Given the description of an element on the screen output the (x, y) to click on. 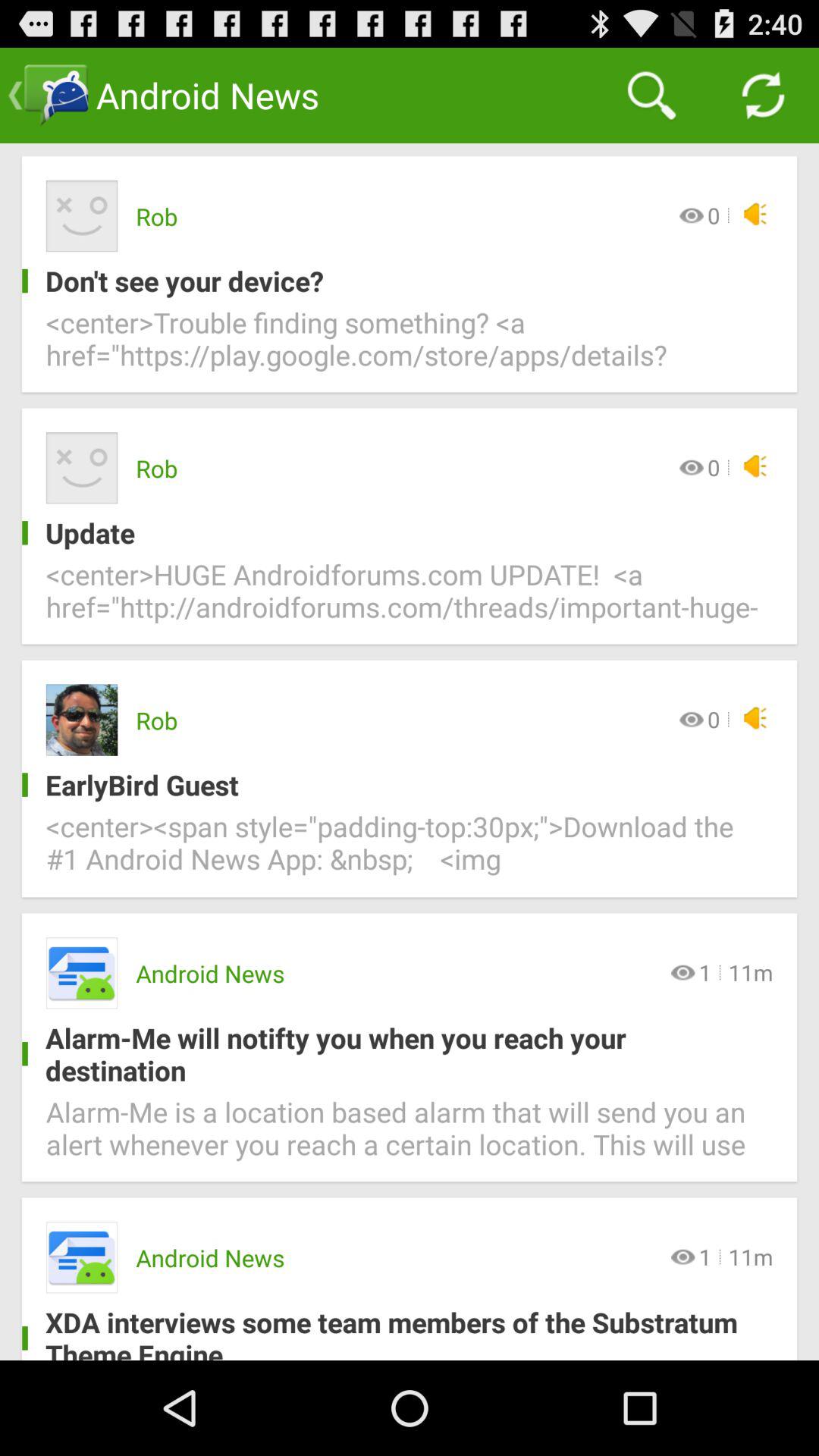
select icon below the update icon (409, 599)
